Given the description of an element on the screen output the (x, y) to click on. 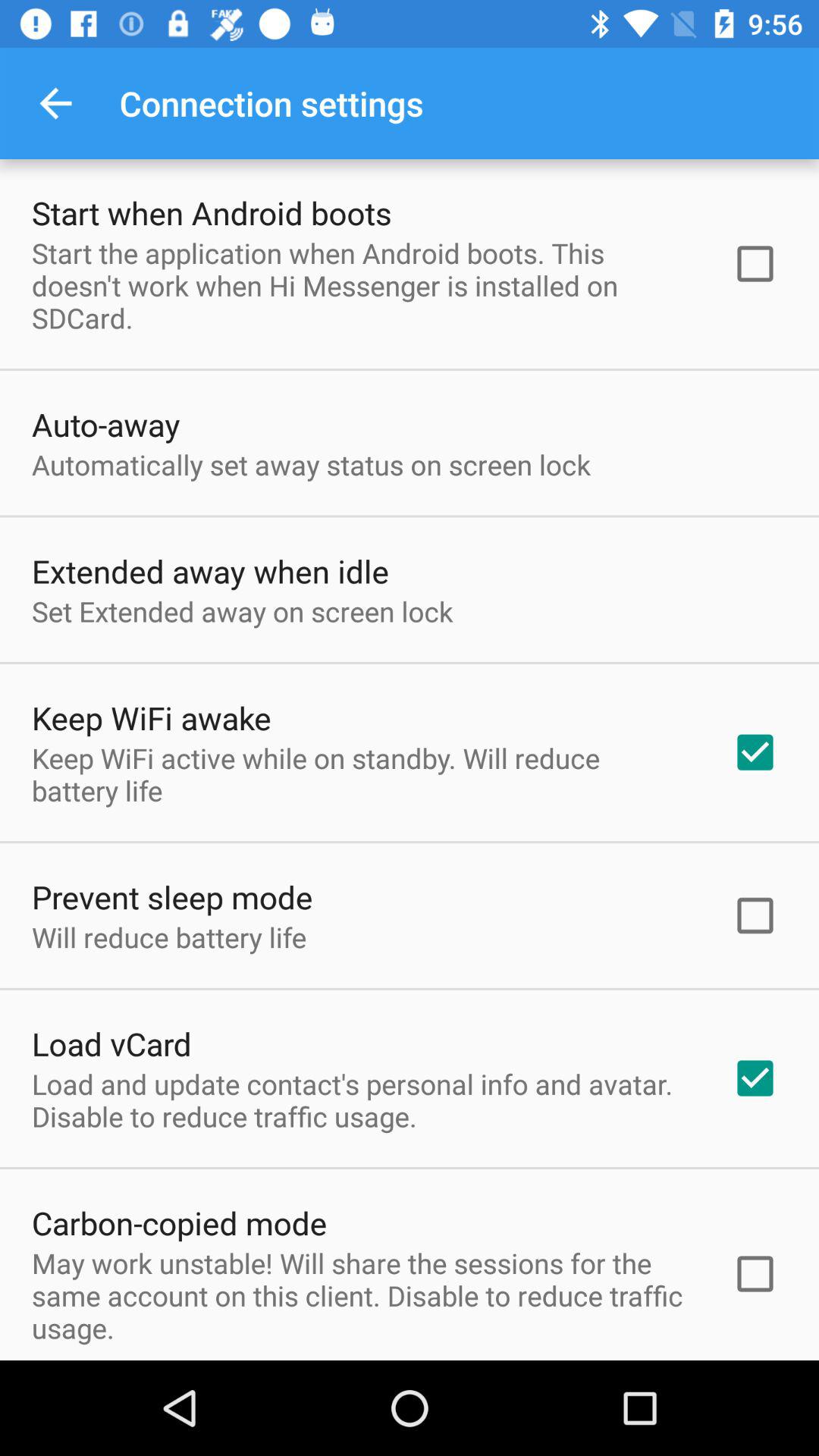
flip to the prevent sleep mode (171, 896)
